Given the description of an element on the screen output the (x, y) to click on. 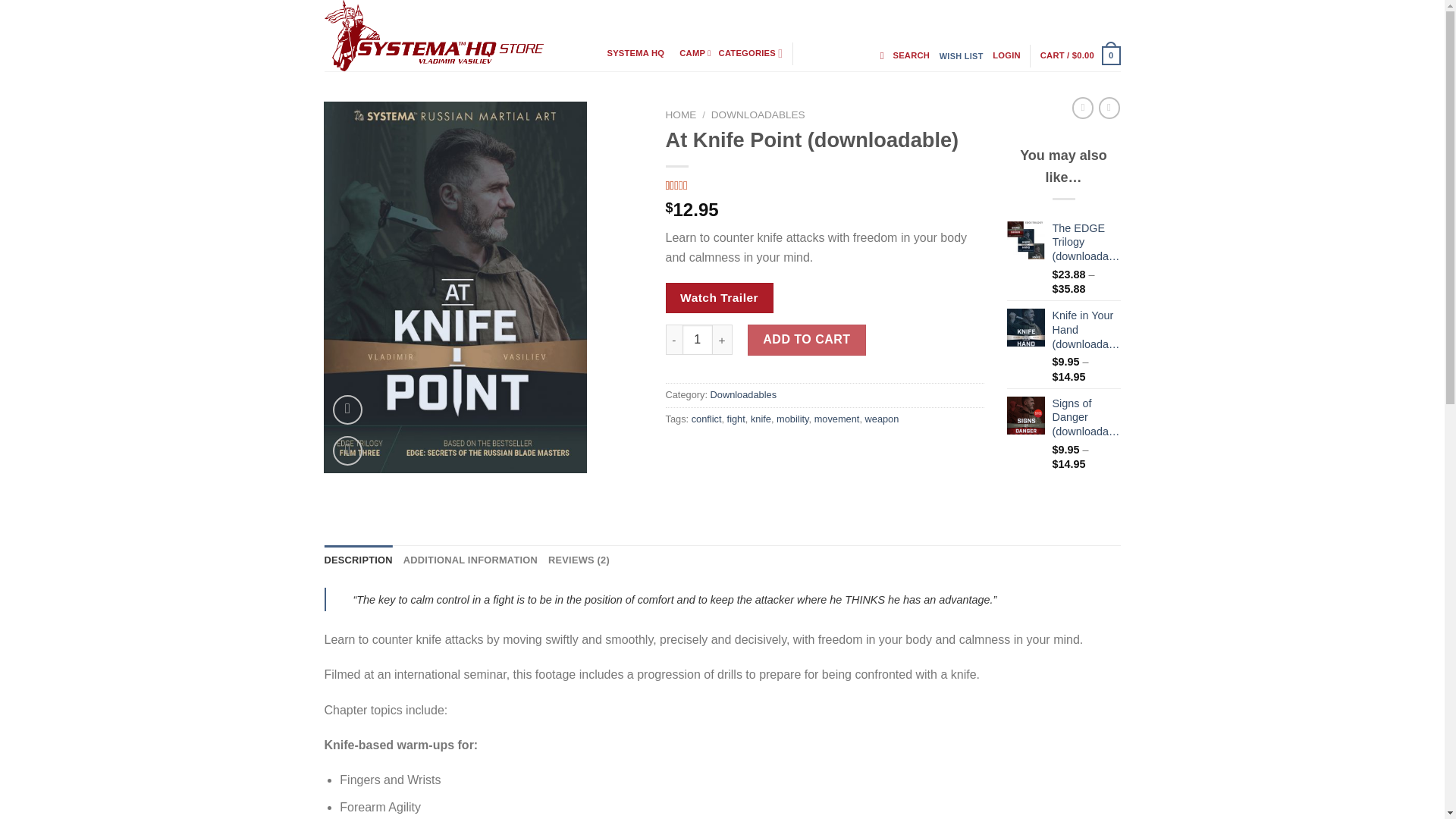
Systema HQ Toronto - Systema HQ Toronto (824, 185)
LOGIN (454, 35)
DOWNLOADABLES (1006, 55)
WISH LIST (758, 114)
Zoom (961, 55)
Qty (347, 450)
SYSTEMA HQ    (697, 339)
1 (639, 53)
 SEARCH (697, 339)
